Given the description of an element on the screen output the (x, y) to click on. 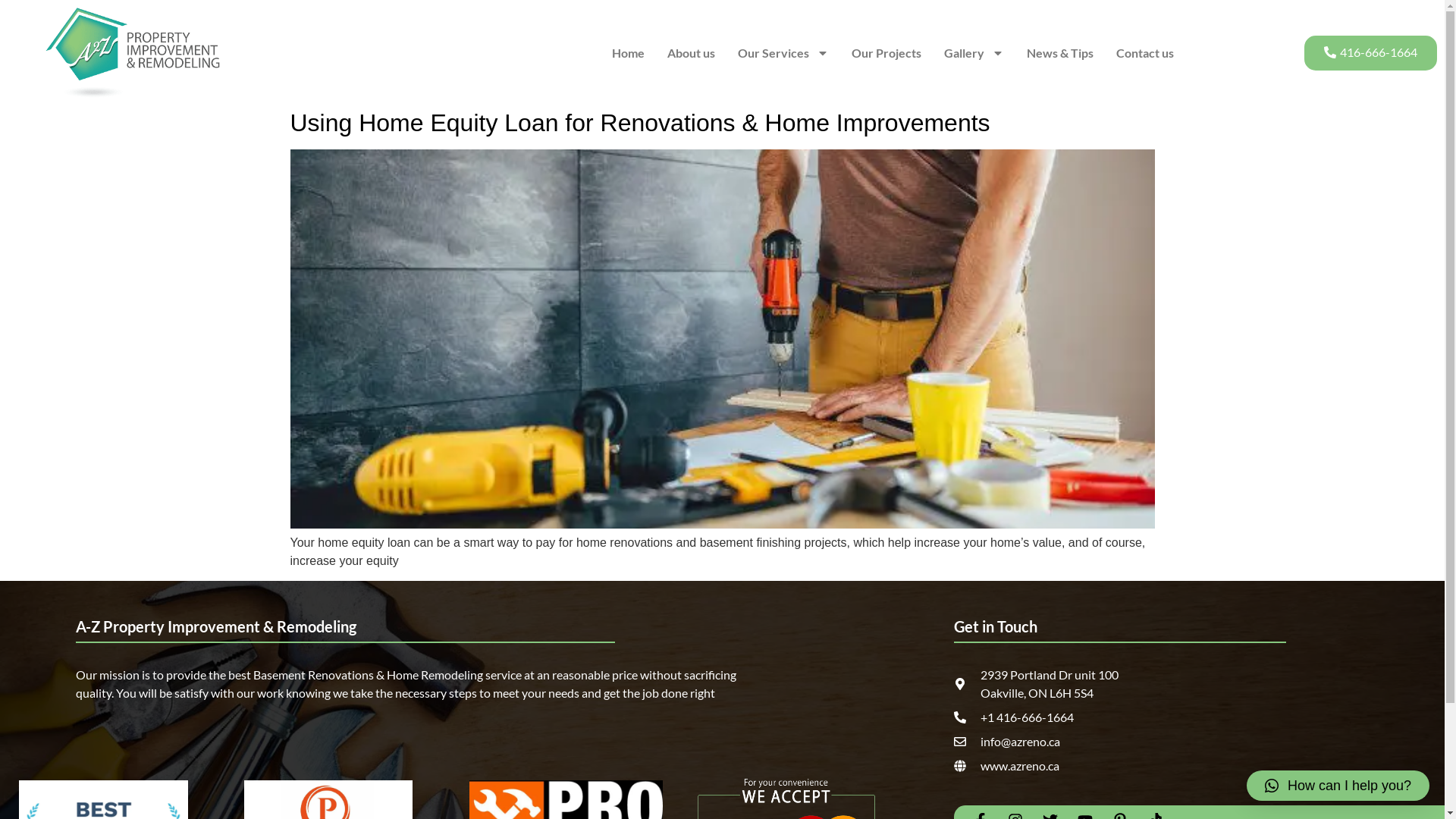
+1 416-666-1664 Element type: text (1160, 717)
2939 Portland Dr unit 100
Oakville, ON L6H 5S4 Element type: text (1160, 683)
Our Services Element type: text (783, 52)
News & Tips Element type: text (1059, 52)
Home Element type: text (627, 52)
Gallery Element type: text (973, 52)
Contact us Element type: text (1144, 52)
Using Home Equity Loan for Renovations & Home Improvements Element type: text (639, 122)
Our Projects Element type: text (886, 52)
info@azreno.ca Element type: text (1160, 741)
How can I help you? Element type: text (1337, 785)
A-Z Property Improvement & Remodeling Element type: text (215, 626)
About us Element type: text (690, 52)
416-666-1664 Element type: text (1370, 52)
